Given the description of an element on the screen output the (x, y) to click on. 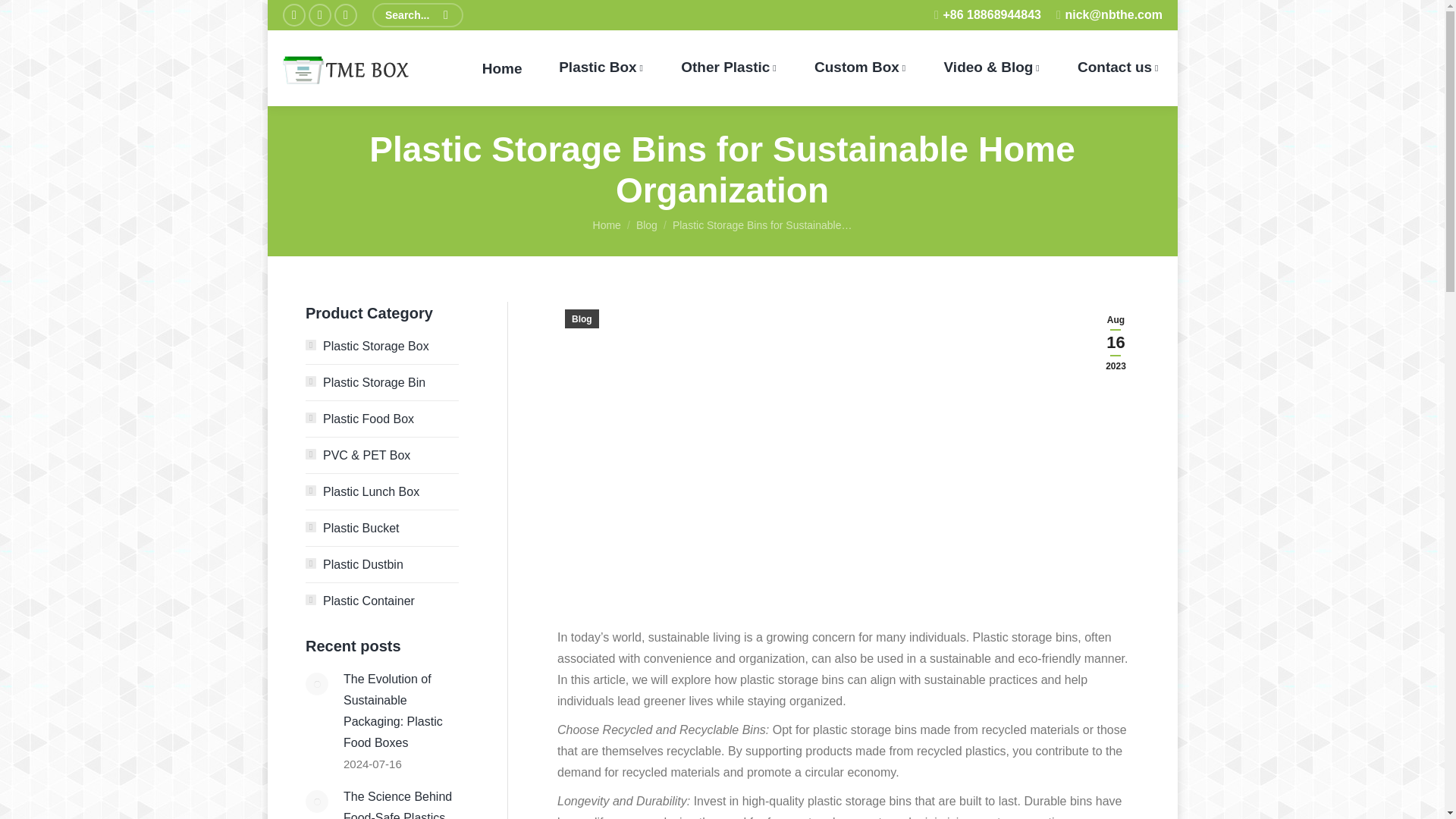
Facebook (293, 15)
Go! (30, 15)
Dribbble (344, 15)
Twitter (318, 15)
Facebook (293, 15)
Home (502, 68)
Custom Box (860, 68)
Other Plastic (728, 68)
Plastic Box (601, 68)
Twitter (318, 15)
Dribbble (344, 15)
